Given the description of an element on the screen output the (x, y) to click on. 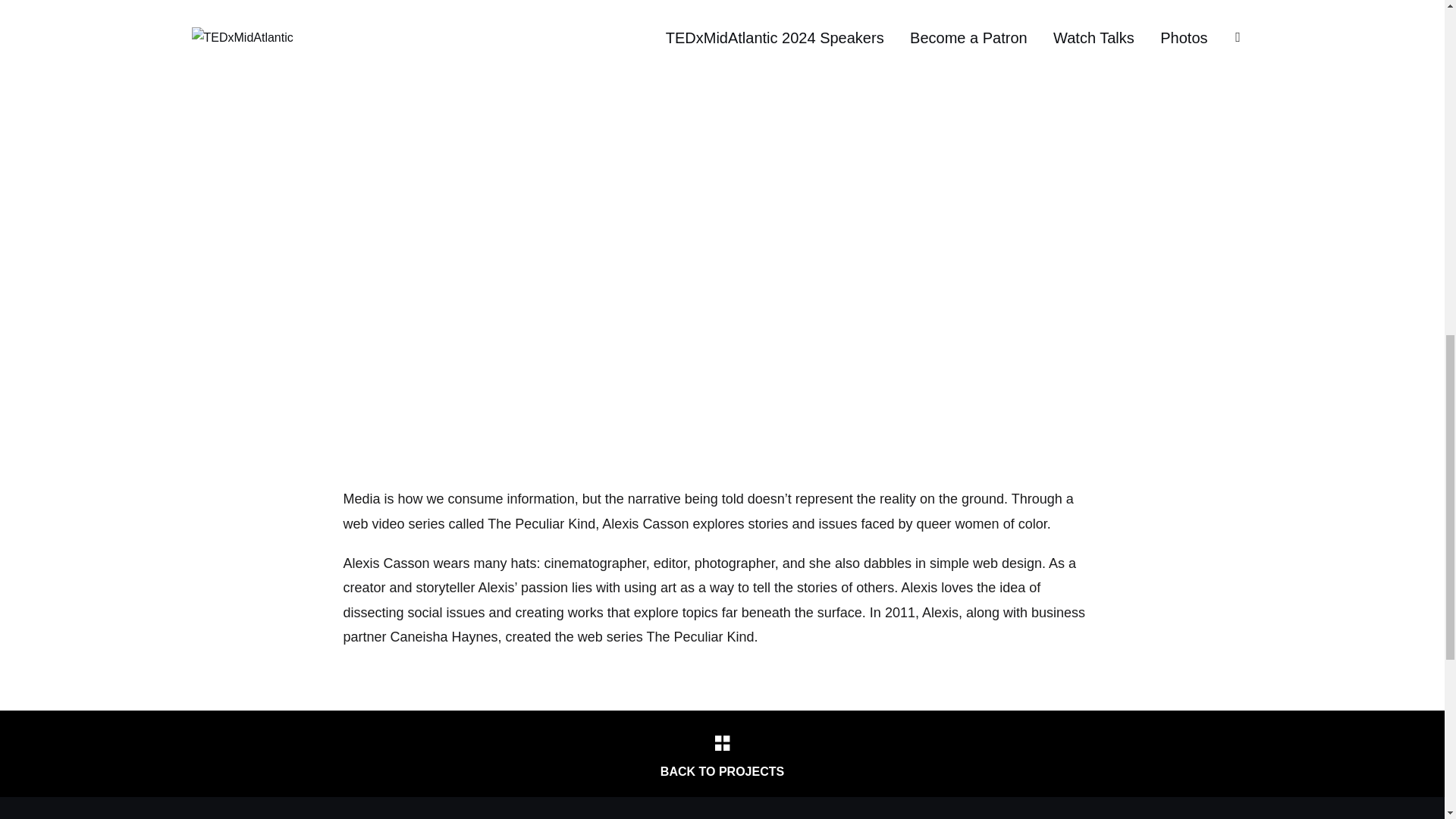
BACK TO PROJECTS (721, 753)
